Given the description of an element on the screen output the (x, y) to click on. 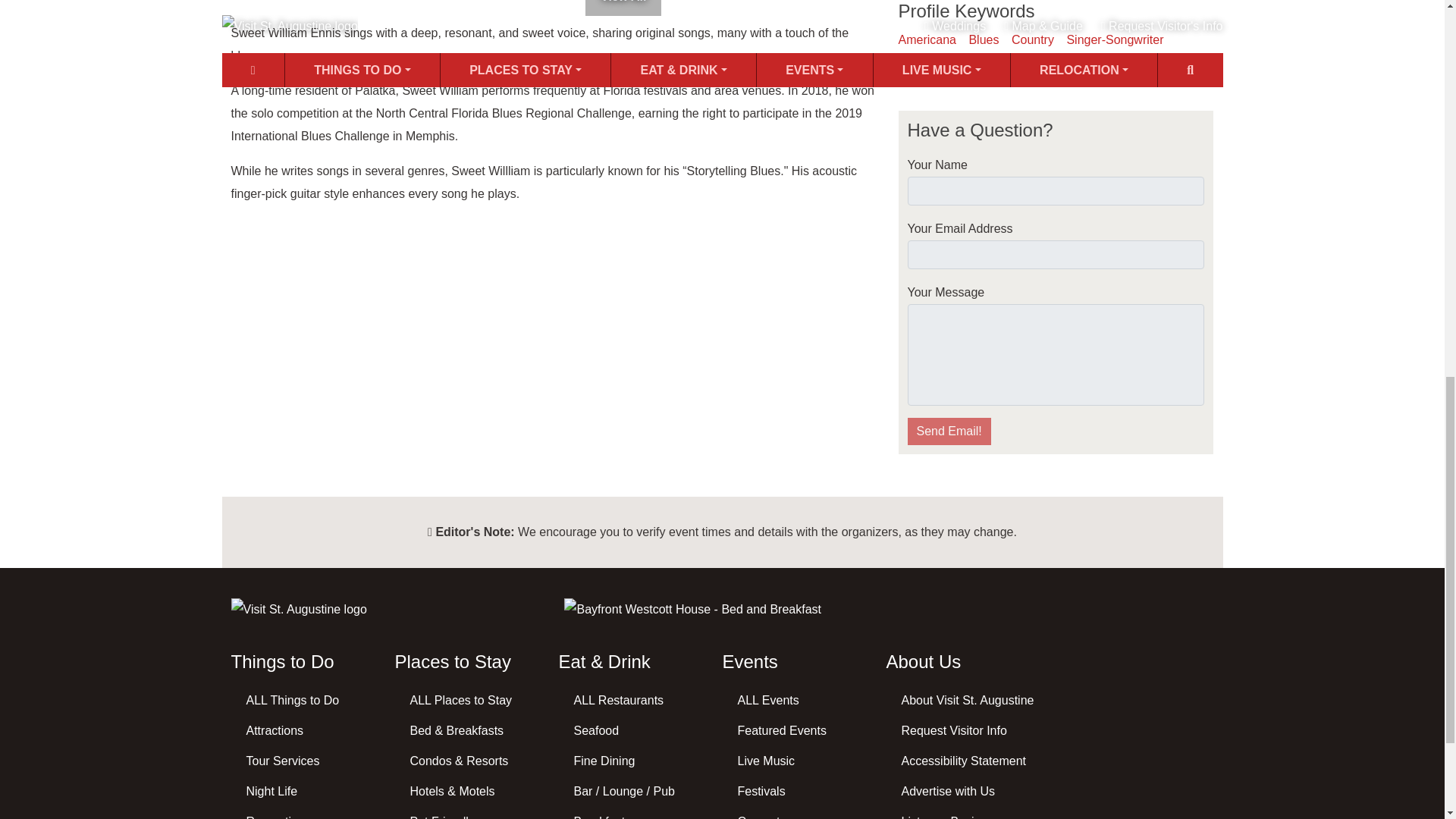
Send Email! (948, 431)
